Given the description of an element on the screen output the (x, y) to click on. 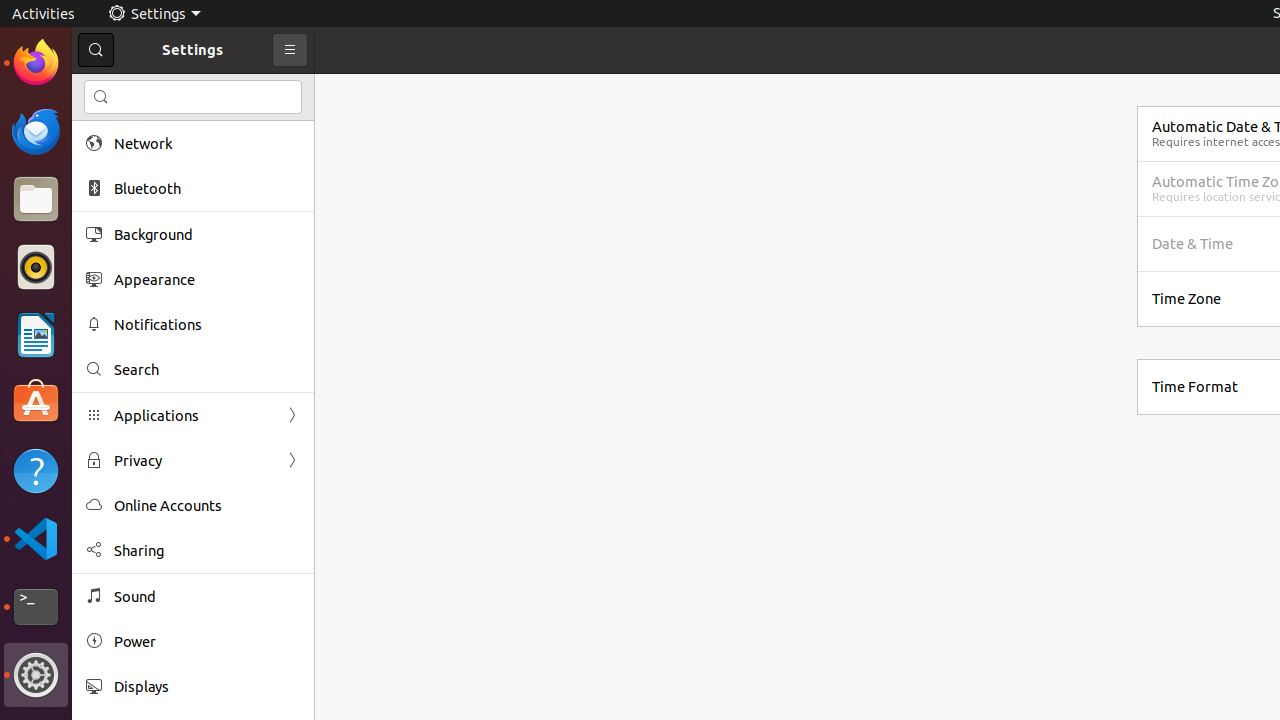
Applications Element type: label (193, 415)
Notifications Element type: label (207, 324)
Forward Element type: icon (292, 460)
Appearance Element type: label (207, 279)
Time Format Element type: label (1195, 386)
